Given the description of an element on the screen output the (x, y) to click on. 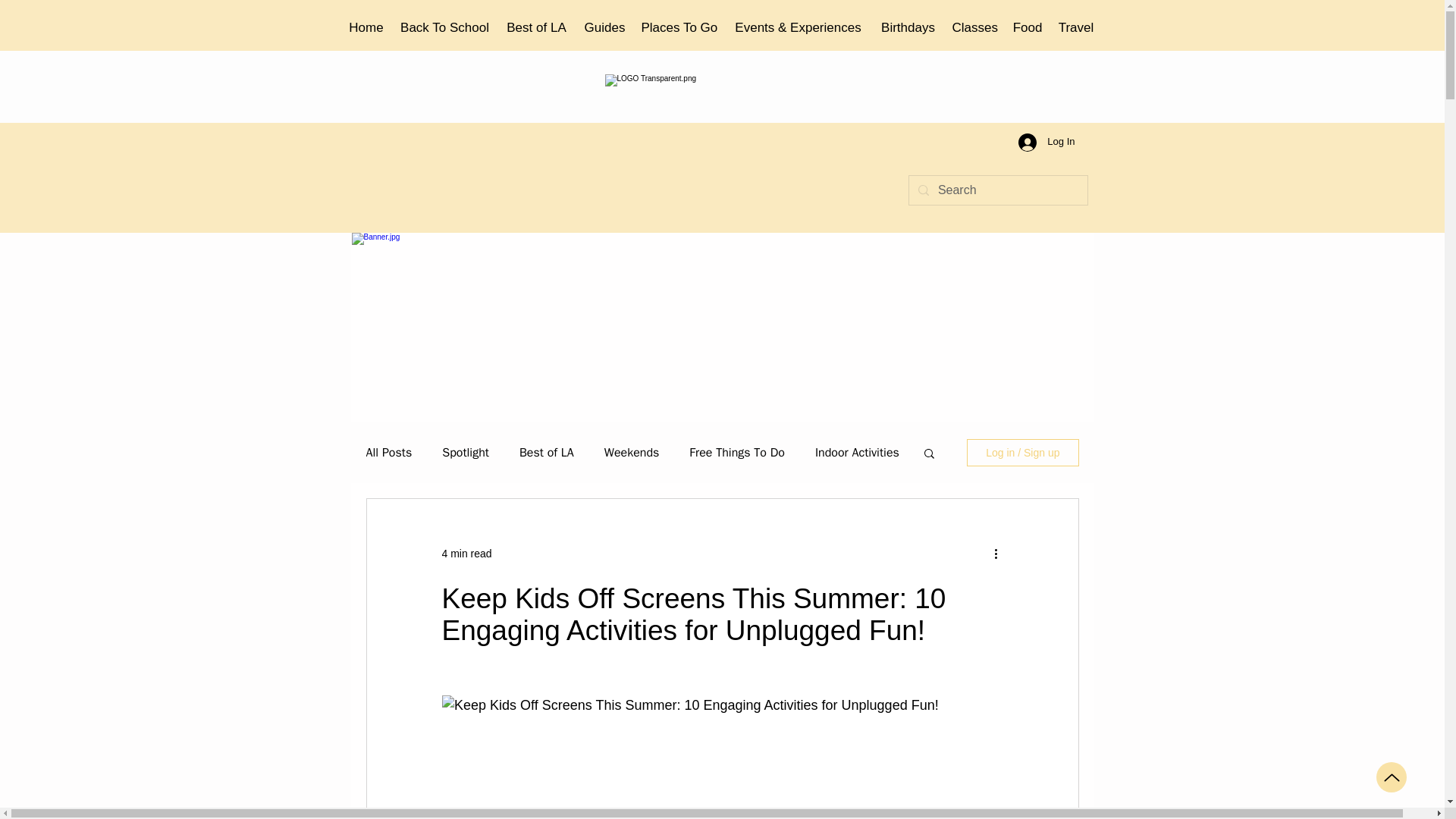
Home (365, 27)
Birthdays (908, 27)
Best of LA (536, 27)
Back To School (445, 27)
4 min read (466, 553)
